Given the description of an element on the screen output the (x, y) to click on. 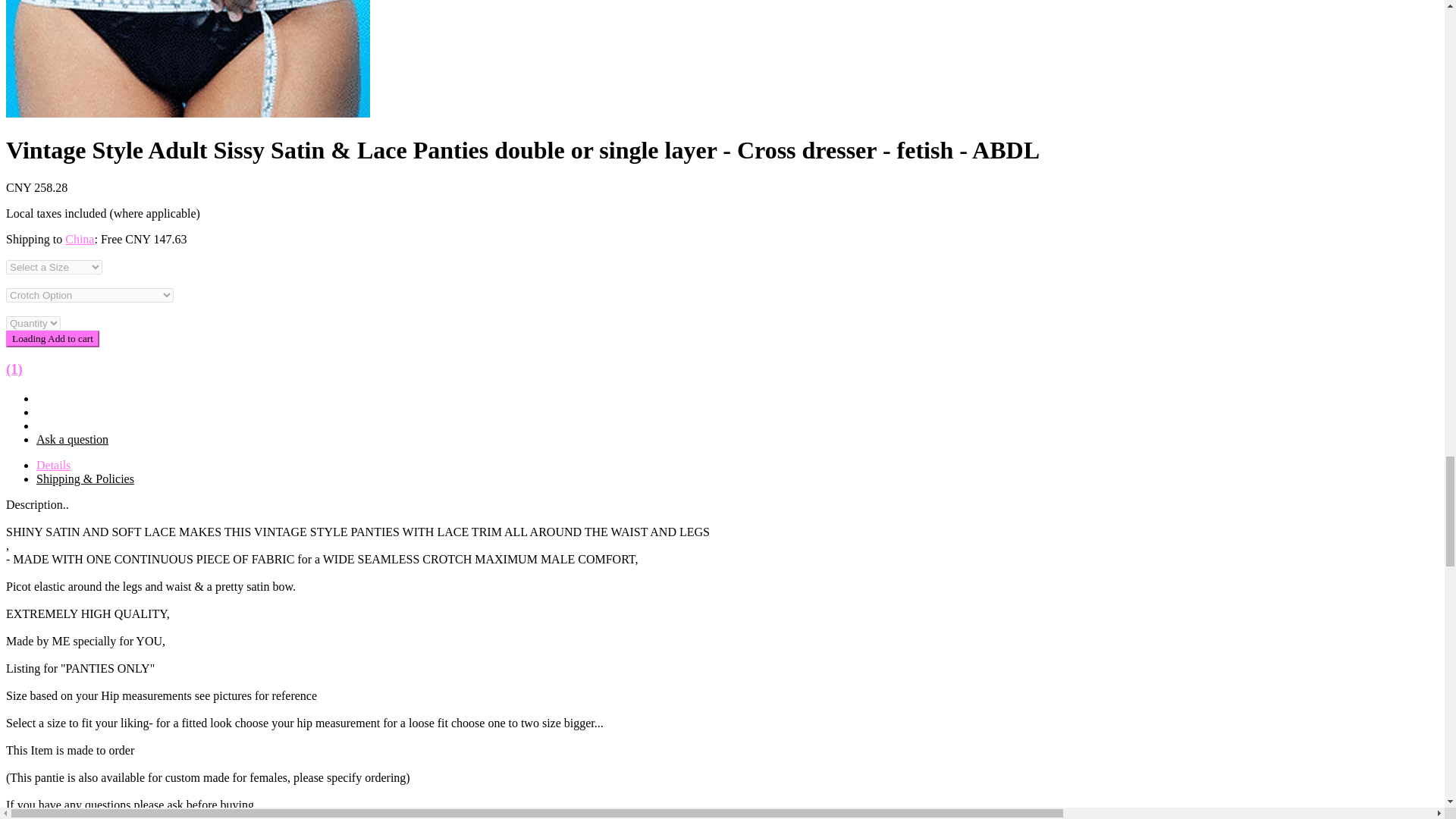
Loading Add to cart (52, 338)
Ask a question (71, 439)
China (79, 238)
Details (52, 465)
